Given the description of an element on the screen output the (x, y) to click on. 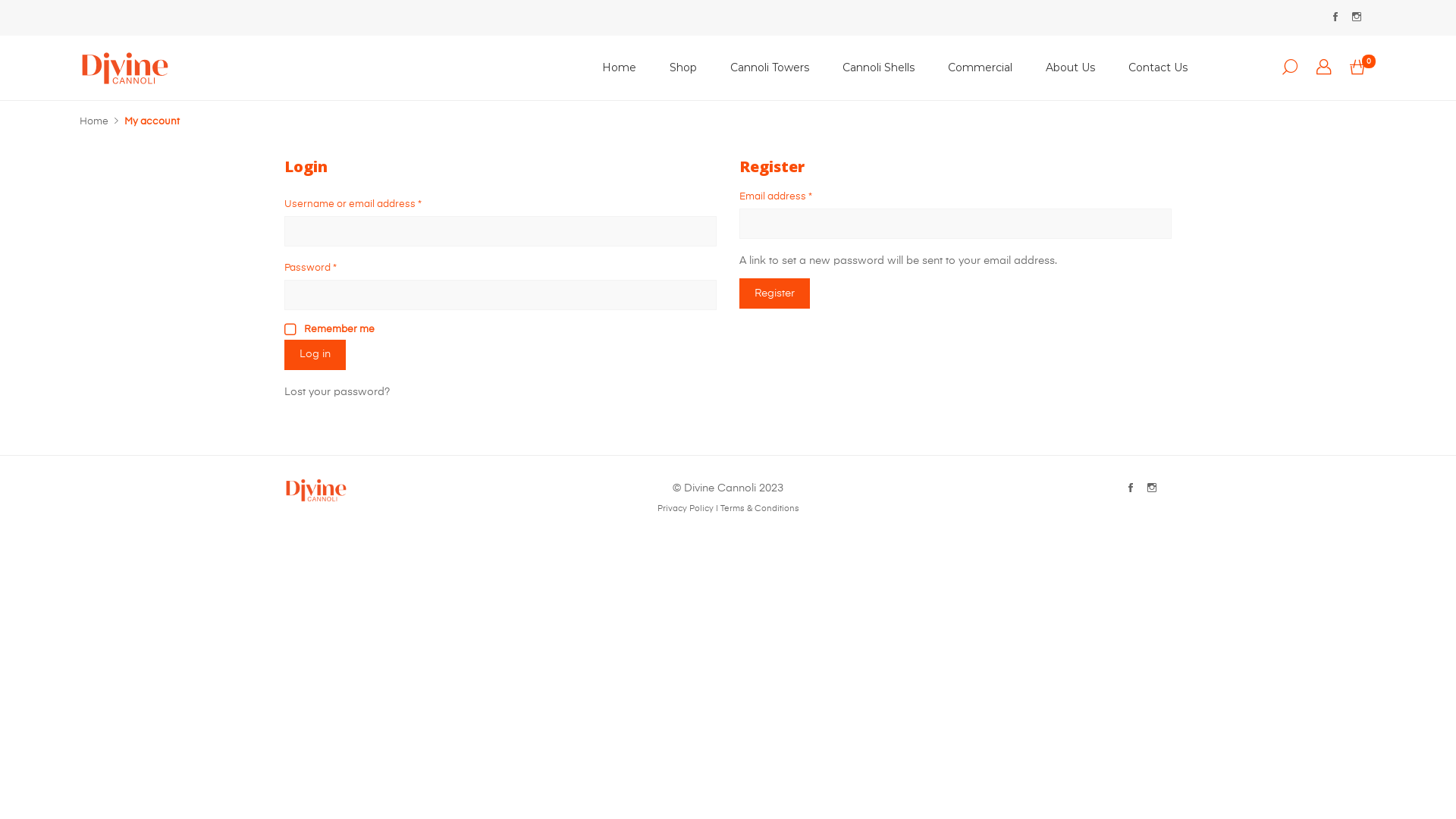
Register Element type: text (774, 293)
Contact Us Element type: text (1157, 67)
Home Element type: text (618, 67)
Cannoli Towers Element type: text (769, 67)
0 Element type: text (1357, 68)
Terms & Conditions Element type: text (759, 508)
Shop Element type: text (683, 67)
Home Element type: text (93, 121)
Commercial Element type: text (979, 67)
Cannoli Shells Element type: text (878, 67)
Lost your password? Element type: text (336, 391)
Privacy Policy Element type: text (684, 508)
About Us Element type: text (1070, 67)
Log in Element type: text (314, 354)
